Given the description of an element on the screen output the (x, y) to click on. 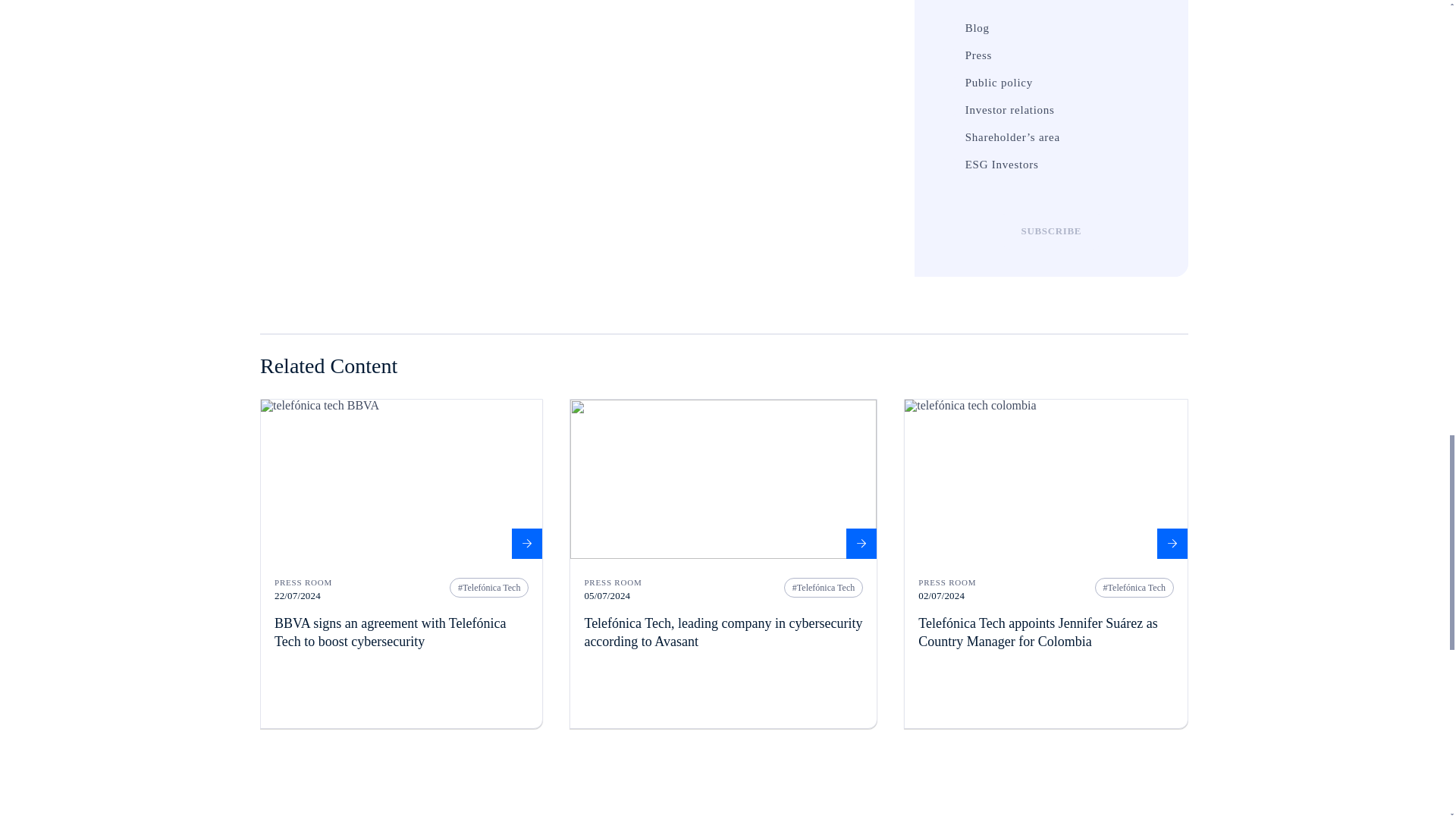
Blog (948, 28)
Shareholder's area (948, 136)
Press (948, 55)
ESG Investors (948, 164)
Public policy (948, 82)
Investor relations (948, 109)
